Given the description of an element on the screen output the (x, y) to click on. 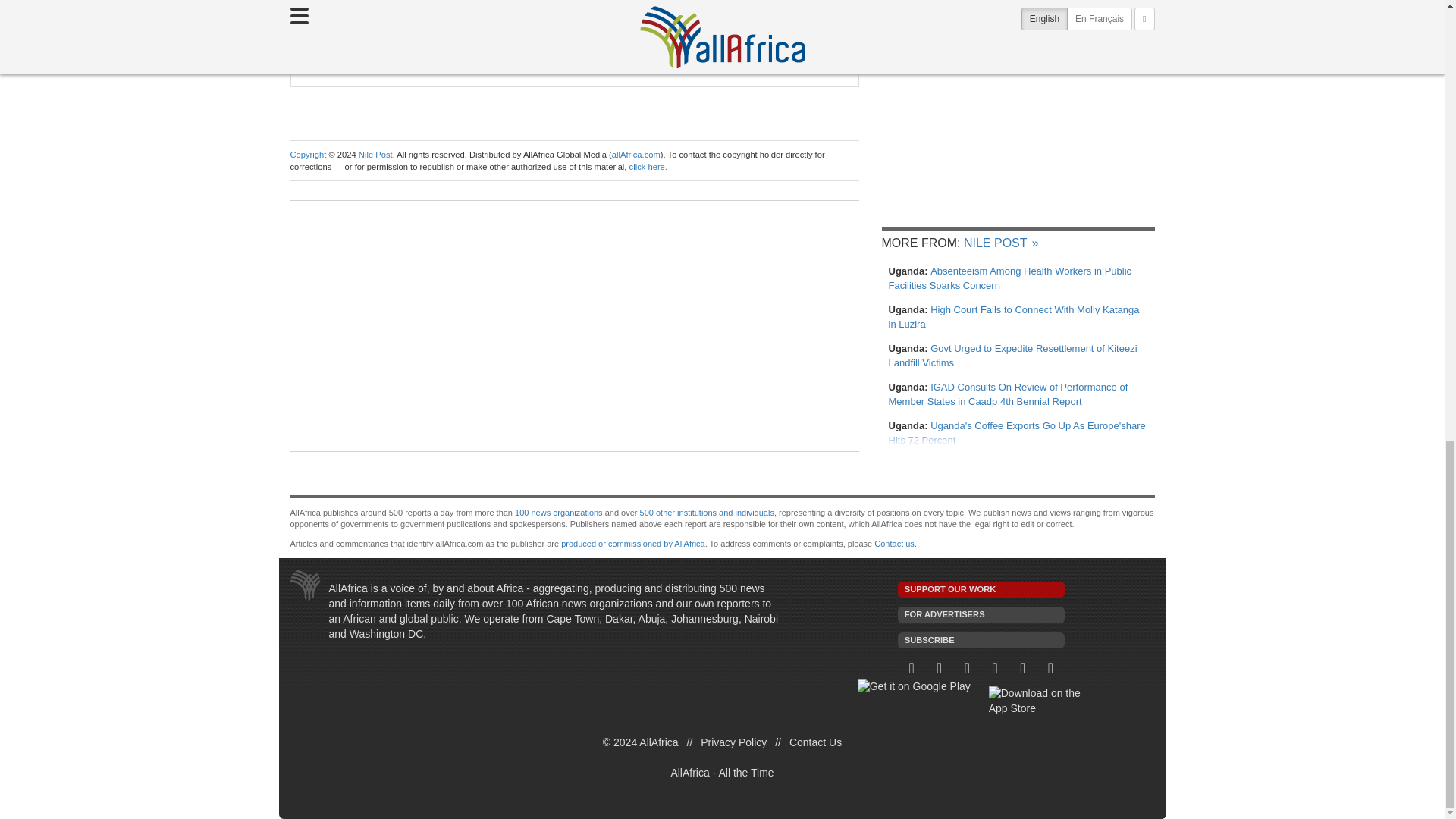
East Africa (424, 63)
Nile Post (375, 153)
Governance (494, 63)
Nile Post (483, 11)
click here. (647, 166)
Copyright (307, 153)
original article (389, 11)
Visit Nile Post (483, 11)
allAfrica.com (636, 153)
